Given the description of an element on the screen output the (x, y) to click on. 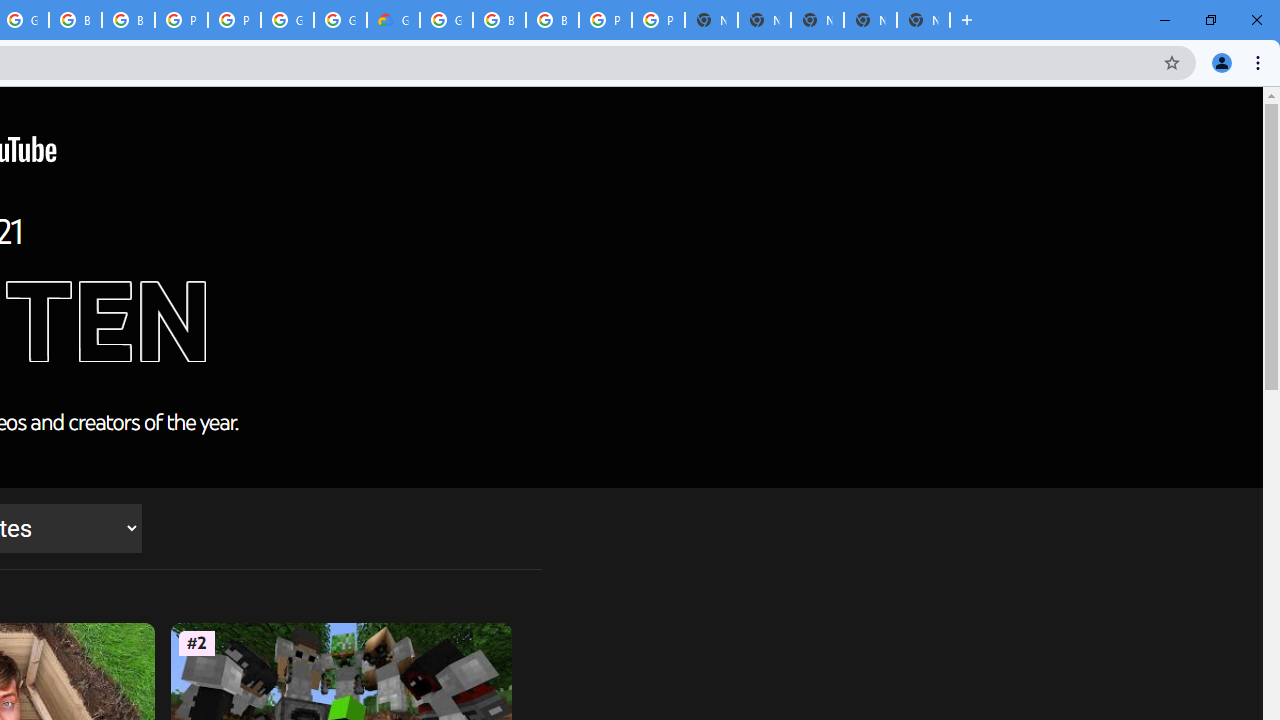
Browse Chrome as a guest - Computer - Google Chrome Help (75, 20)
Google Cloud Platform (287, 20)
Browse Chrome as a guest - Computer - Google Chrome Help (552, 20)
Google Cloud Platform (446, 20)
Google Cloud Estimate Summary (393, 20)
Browse Chrome as a guest - Computer - Google Chrome Help (499, 20)
Browse Chrome as a guest - Computer - Google Chrome Help (128, 20)
